Given the description of an element on the screen output the (x, y) to click on. 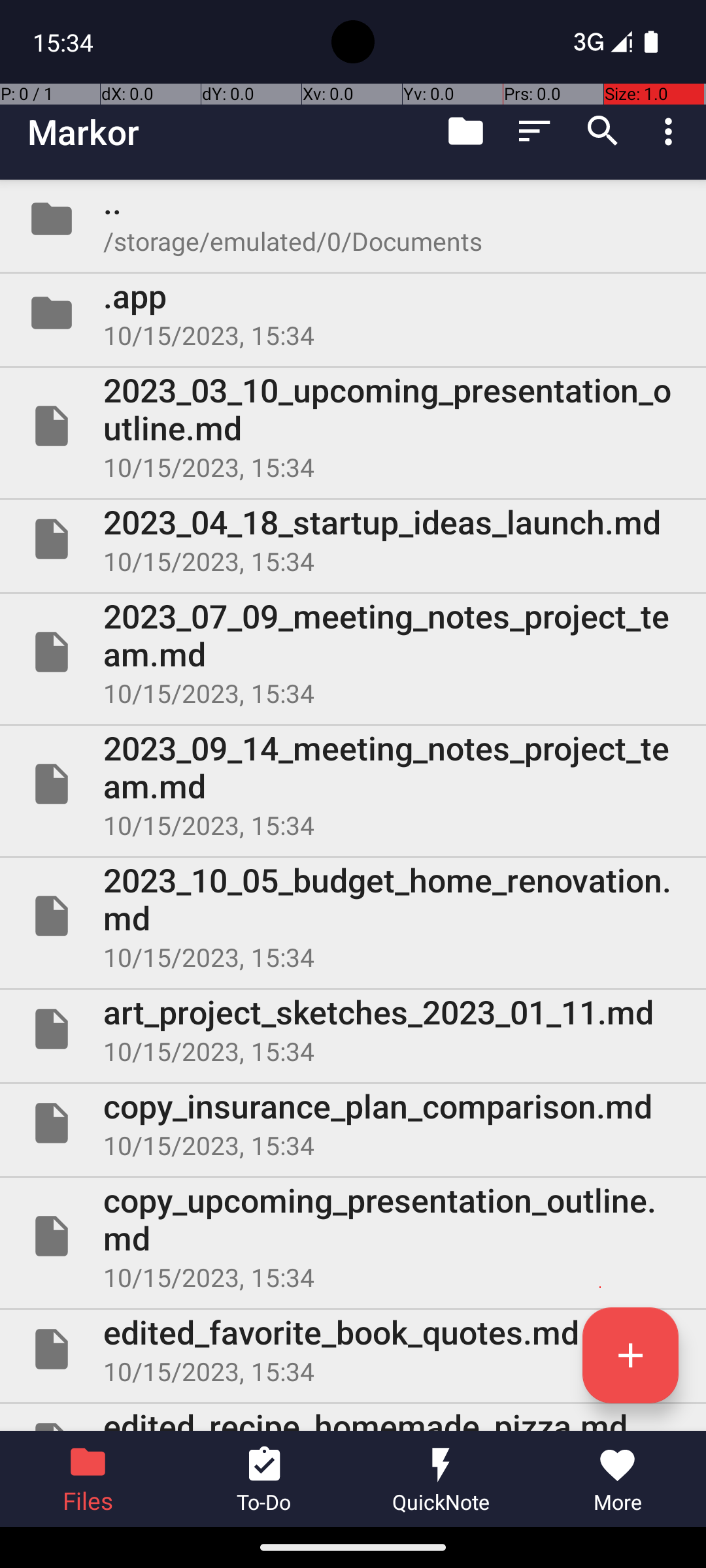
Folder .app  Element type: android.widget.LinearLayout (353, 312)
File 2023_03_10_upcoming_presentation_outline.md  Element type: android.widget.LinearLayout (353, 425)
File 2023_04_18_startup_ideas_launch.md  Element type: android.widget.LinearLayout (353, 538)
File 2023_07_09_meeting_notes_project_team.md  Element type: android.widget.LinearLayout (353, 651)
File 2023_09_14_meeting_notes_project_team.md  Element type: android.widget.LinearLayout (353, 783)
File 2023_10_05_budget_home_renovation.md  Element type: android.widget.LinearLayout (353, 915)
File art_project_sketches_2023_01_11.md  Element type: android.widget.LinearLayout (353, 1028)
File copy_insurance_plan_comparison.md  Element type: android.widget.LinearLayout (353, 1122)
File copy_upcoming_presentation_outline.md  Element type: android.widget.LinearLayout (353, 1235)
File edited_favorite_book_quotes.md  Element type: android.widget.LinearLayout (353, 1348)
File edited_recipe_homemade_pizza.md  Element type: android.widget.LinearLayout (353, 1417)
